Given the description of an element on the screen output the (x, y) to click on. 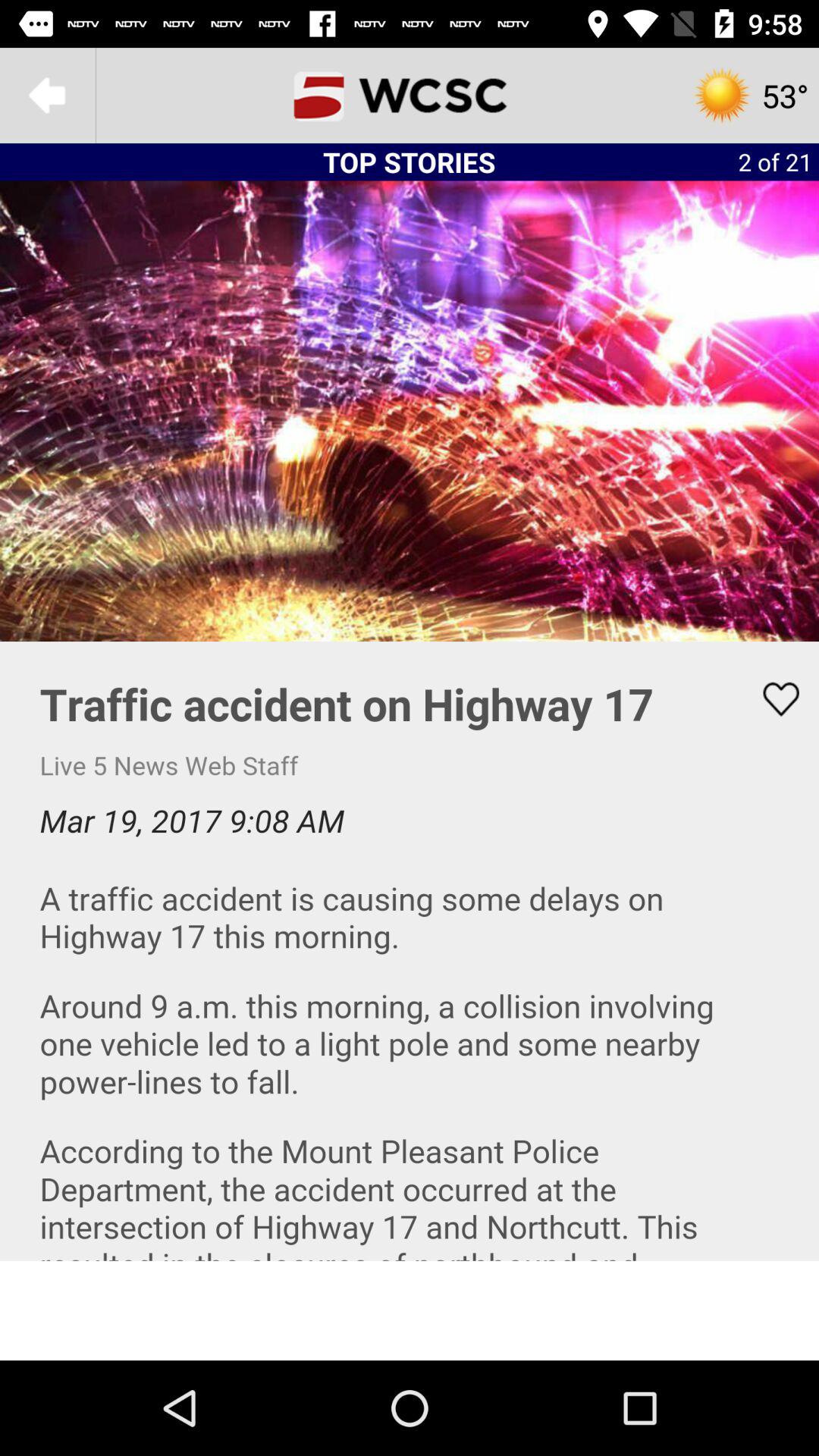
like (771, 699)
